Given the description of an element on the screen output the (x, y) to click on. 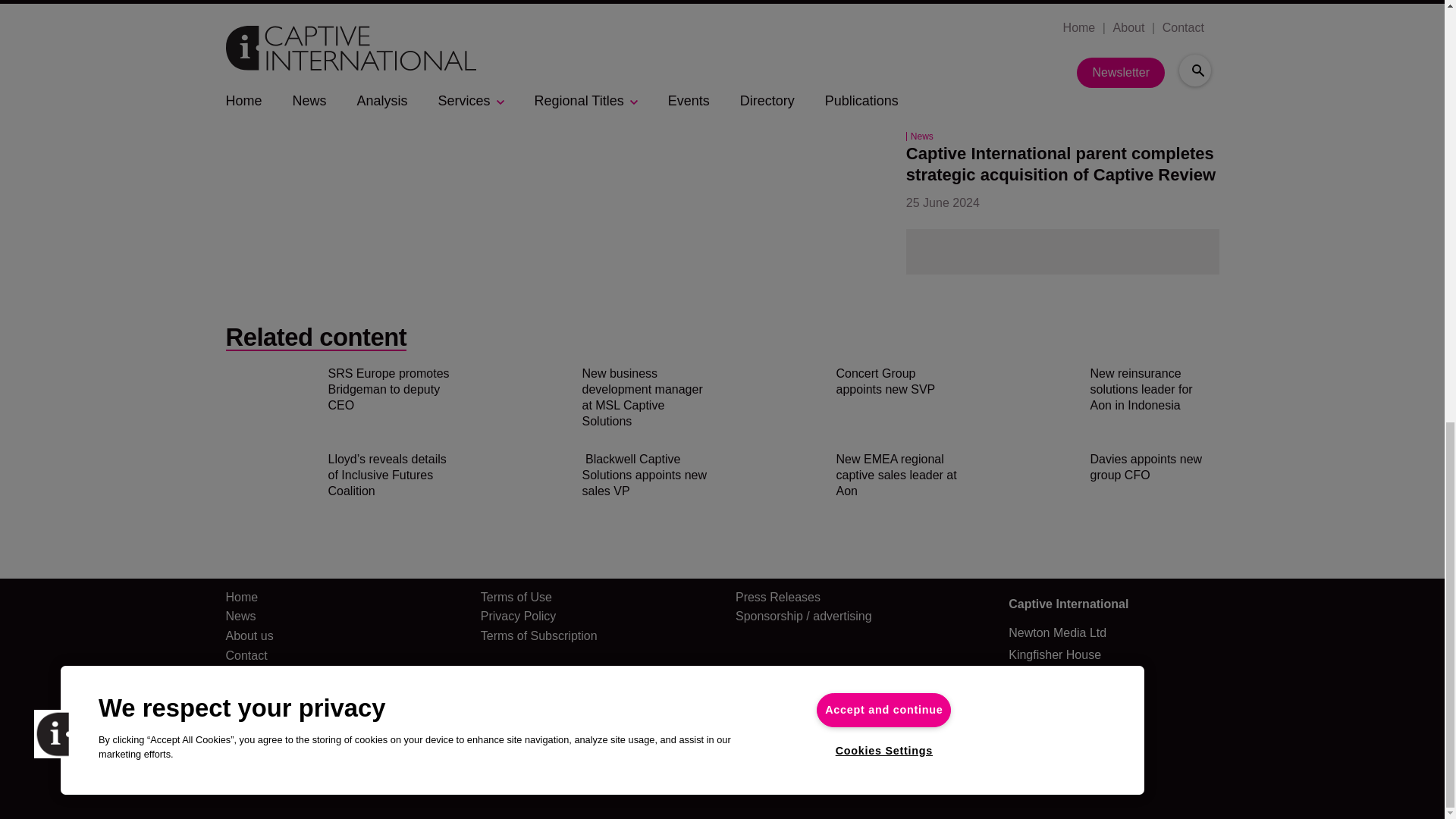
Guy Carpenter: global headwinds impact risk appetites (1040, 49)
